Given the description of an element on the screen output the (x, y) to click on. 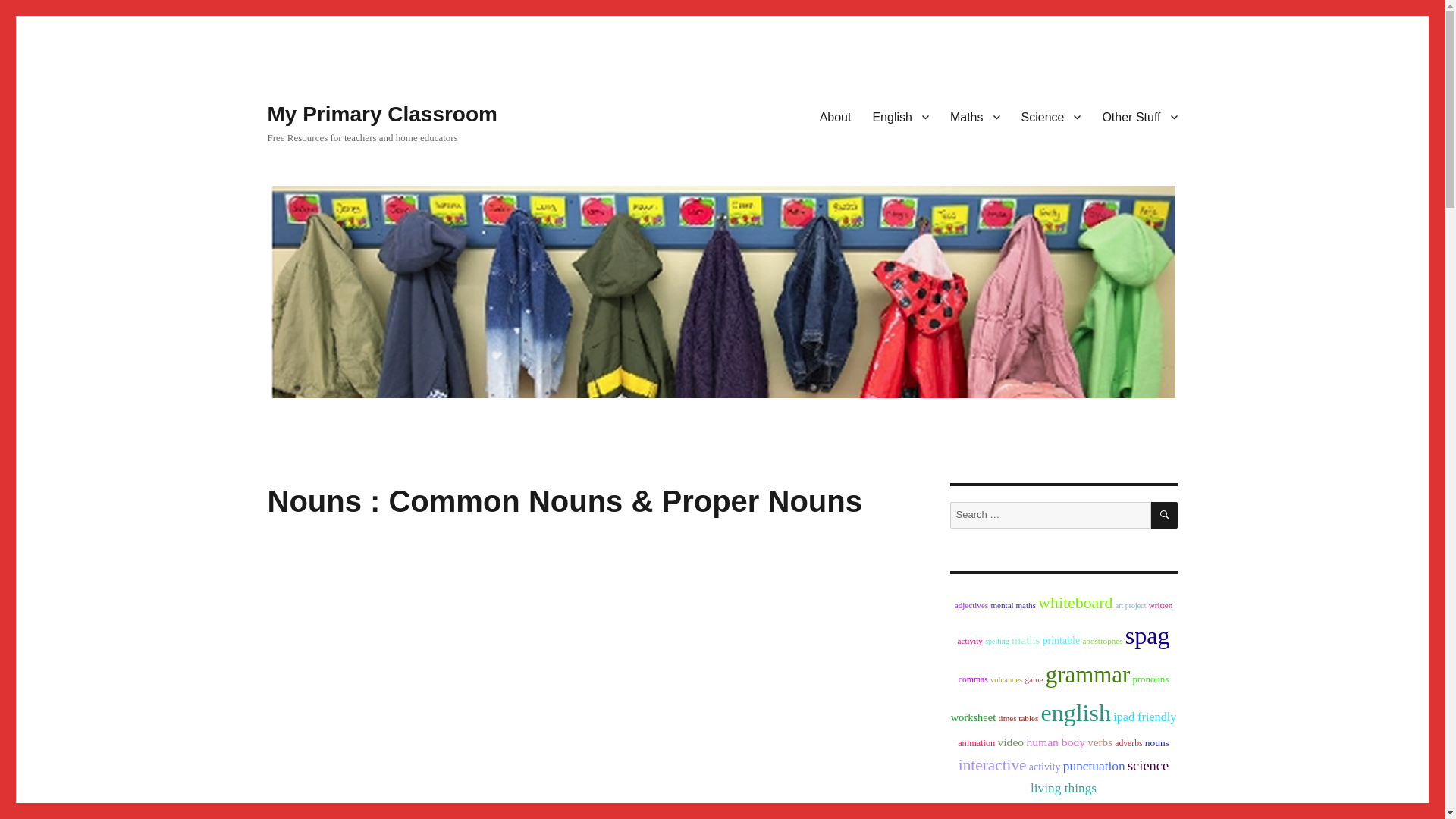
9 topics (1061, 640)
5 topics (973, 679)
4 topics (1033, 678)
23 topics (1075, 602)
About (835, 116)
2 topics (997, 641)
4 topics (1101, 640)
My Primary Classroom (381, 114)
English (900, 116)
Maths (974, 116)
